Given the description of an element on the screen output the (x, y) to click on. 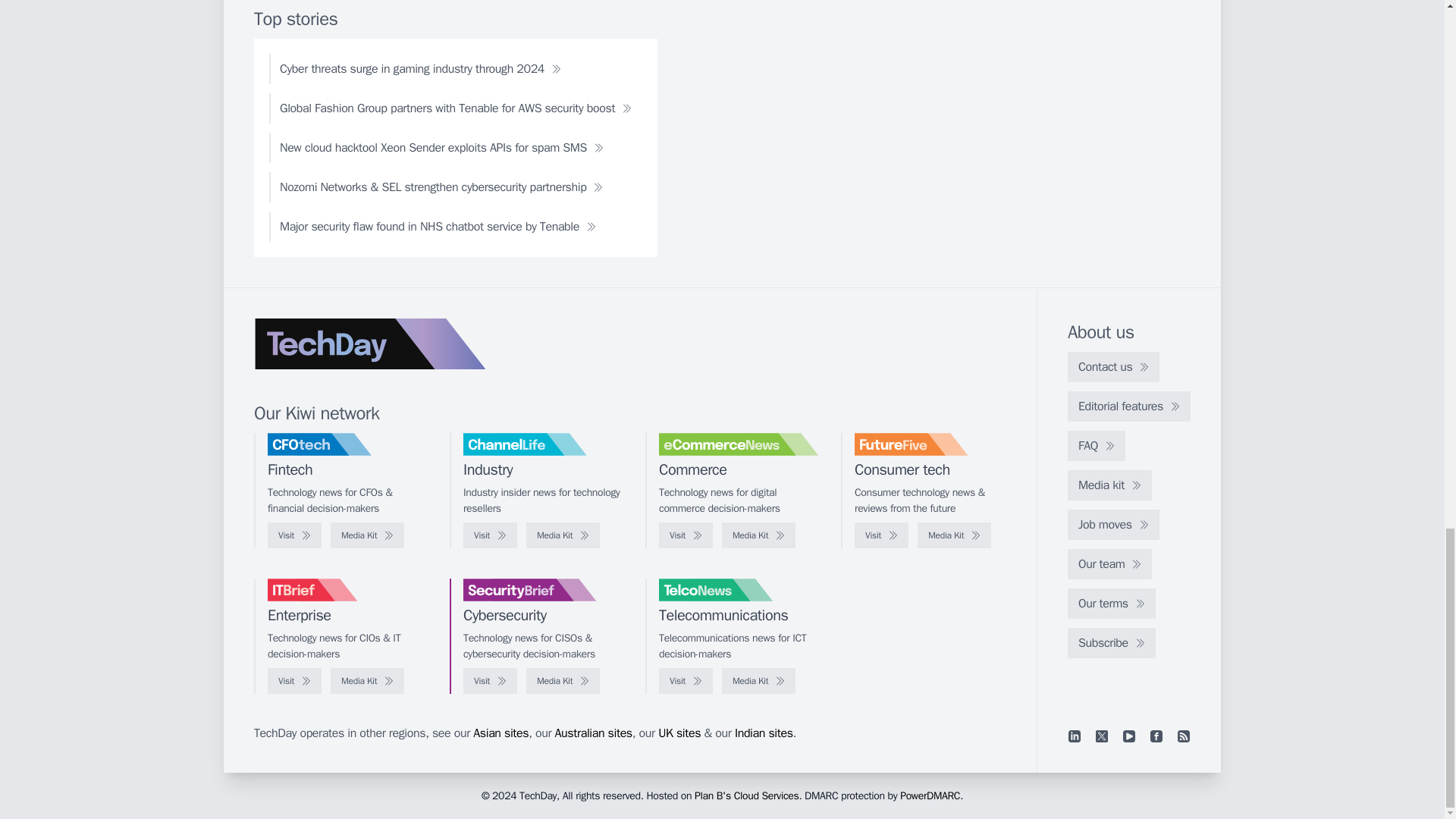
Media Kit (758, 534)
Cyber threats surge in gaming industry through 2024 (420, 69)
New cloud hacktool Xeon Sender exploits APIs for spam SMS (441, 147)
Visit (489, 534)
Visit (686, 534)
Major security flaw found in NHS chatbot service by Tenable (438, 226)
Media Kit (367, 534)
Media Kit (562, 534)
Visit (294, 534)
